Given the description of an element on the screen output the (x, y) to click on. 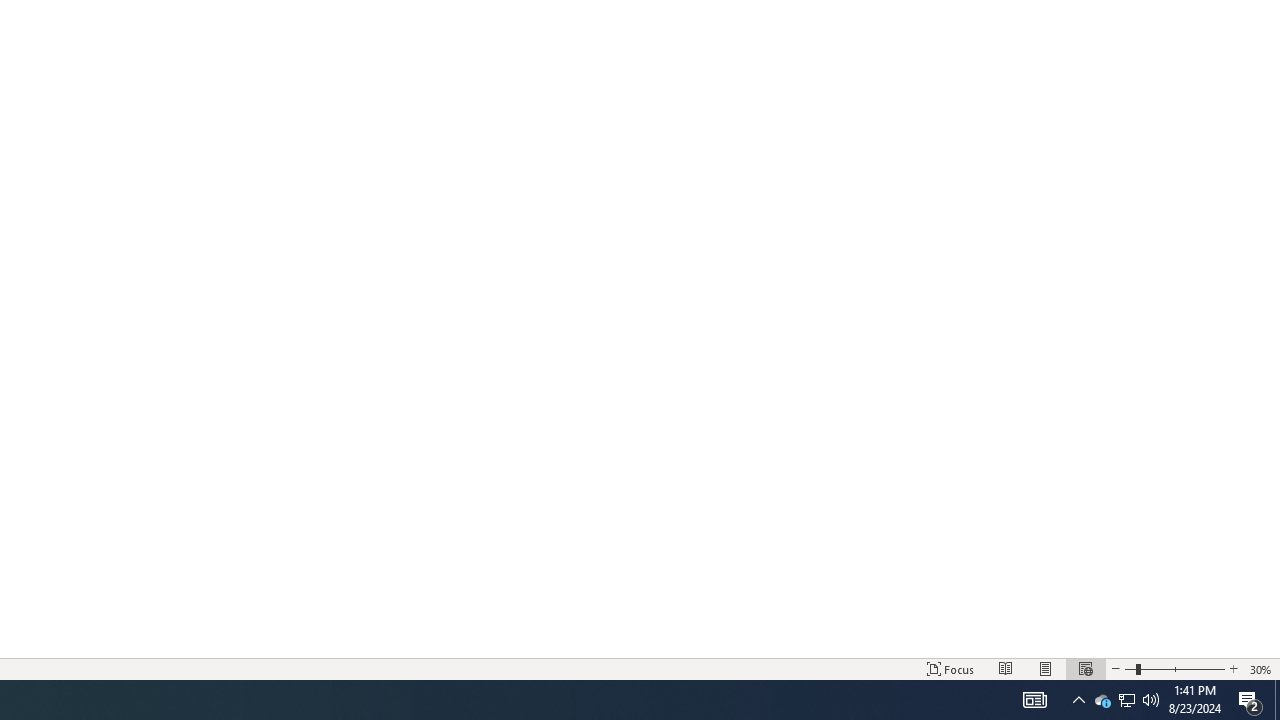
Read Mode (1005, 668)
Print Layout (1046, 668)
Zoom (1174, 668)
Zoom Out (1130, 668)
Web Layout (1085, 668)
Focus  (951, 668)
Zoom 30% (1261, 668)
Zoom In (1233, 668)
